Given the description of an element on the screen output the (x, y) to click on. 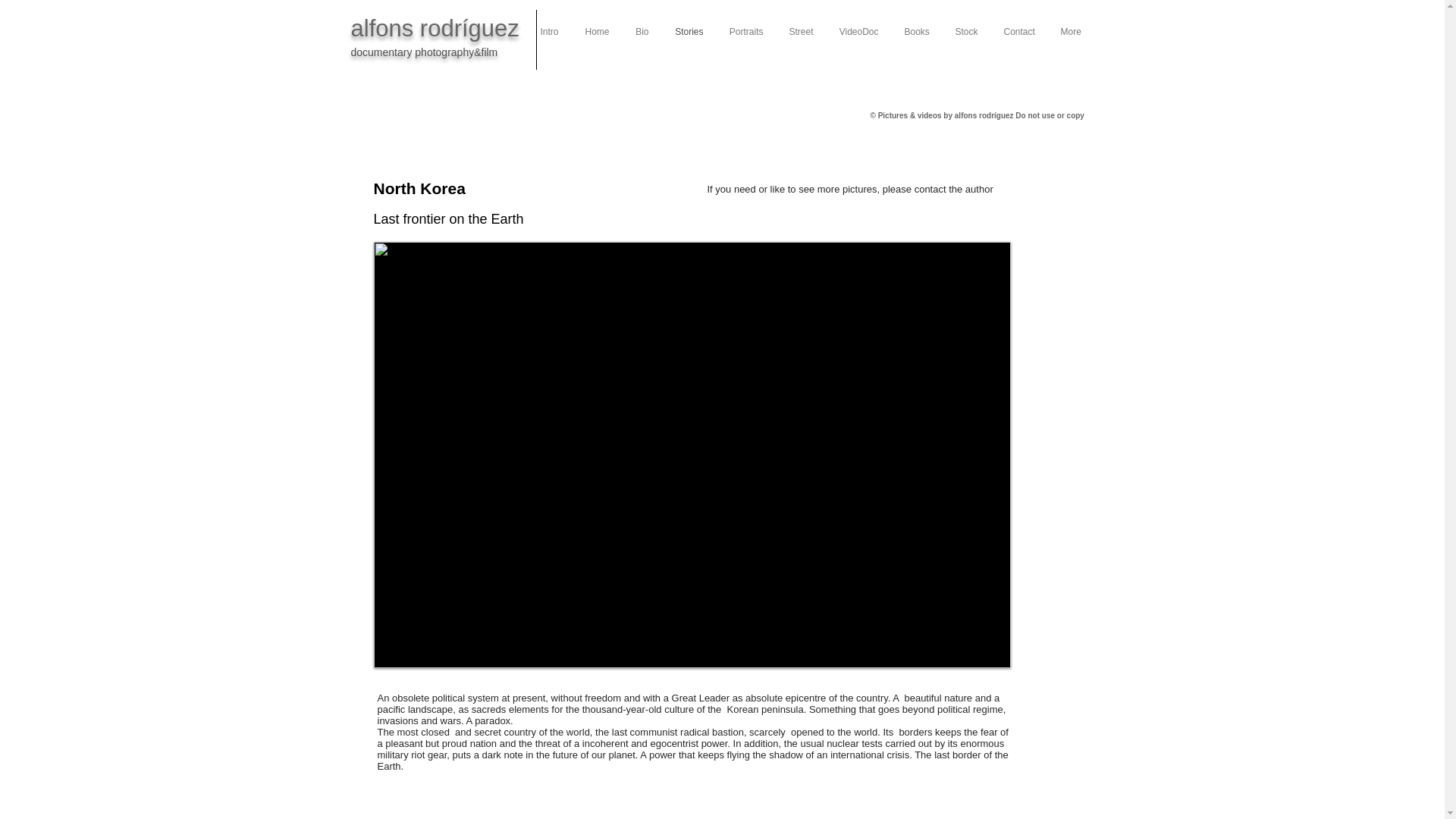
Home (597, 31)
Stories (688, 31)
Intro (547, 31)
Bio (641, 31)
